Given the description of an element on the screen output the (x, y) to click on. 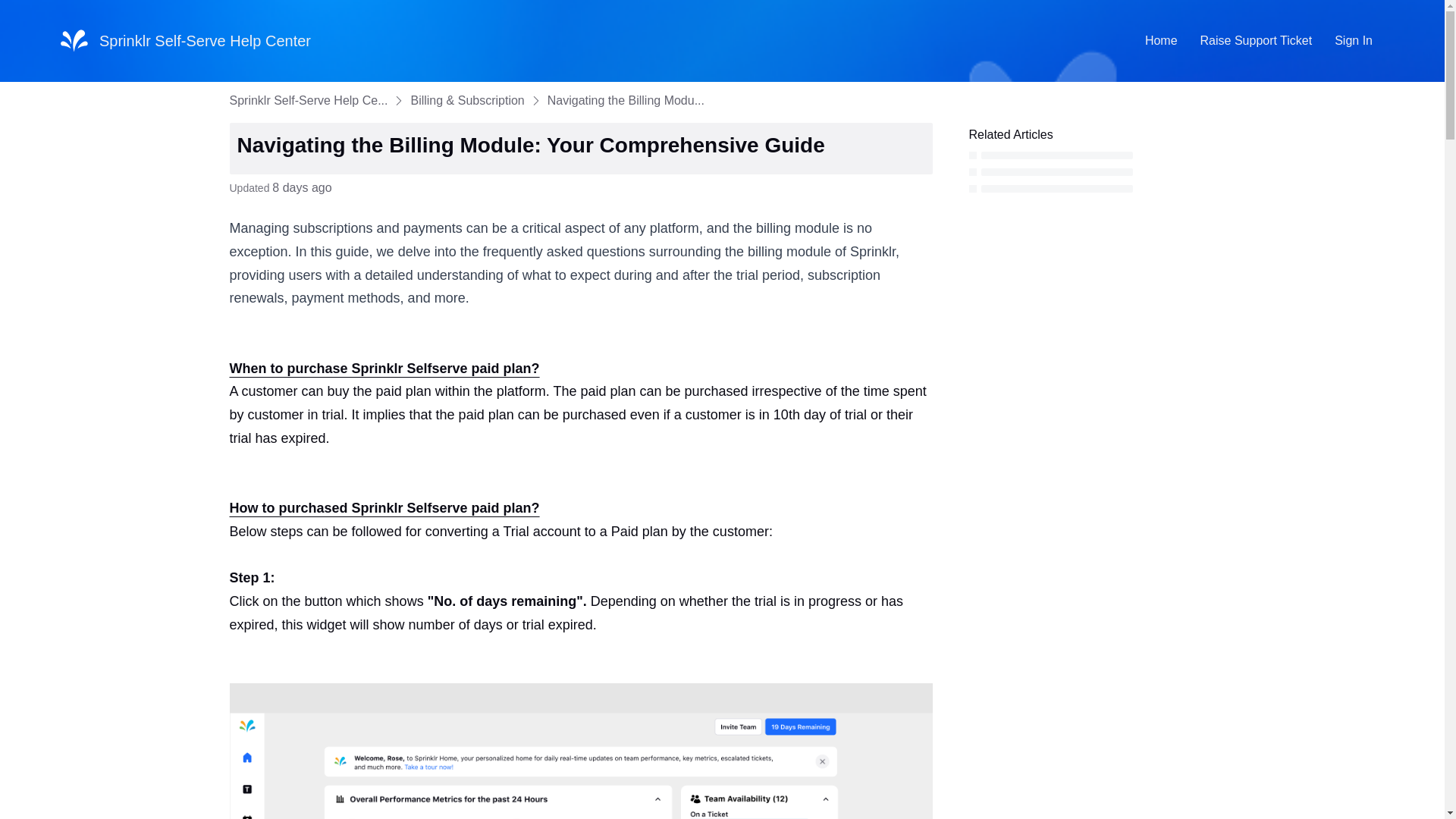
Sprinklr Self-Serve Help Center (204, 39)
Sprinklr Self-Serve Help Ce... (307, 100)
Loading... (1139, 173)
Sprinklr Self-Serve Help Center (74, 40)
Home (1161, 40)
Raise Support Ticket (1256, 40)
